Given the description of an element on the screen output the (x, y) to click on. 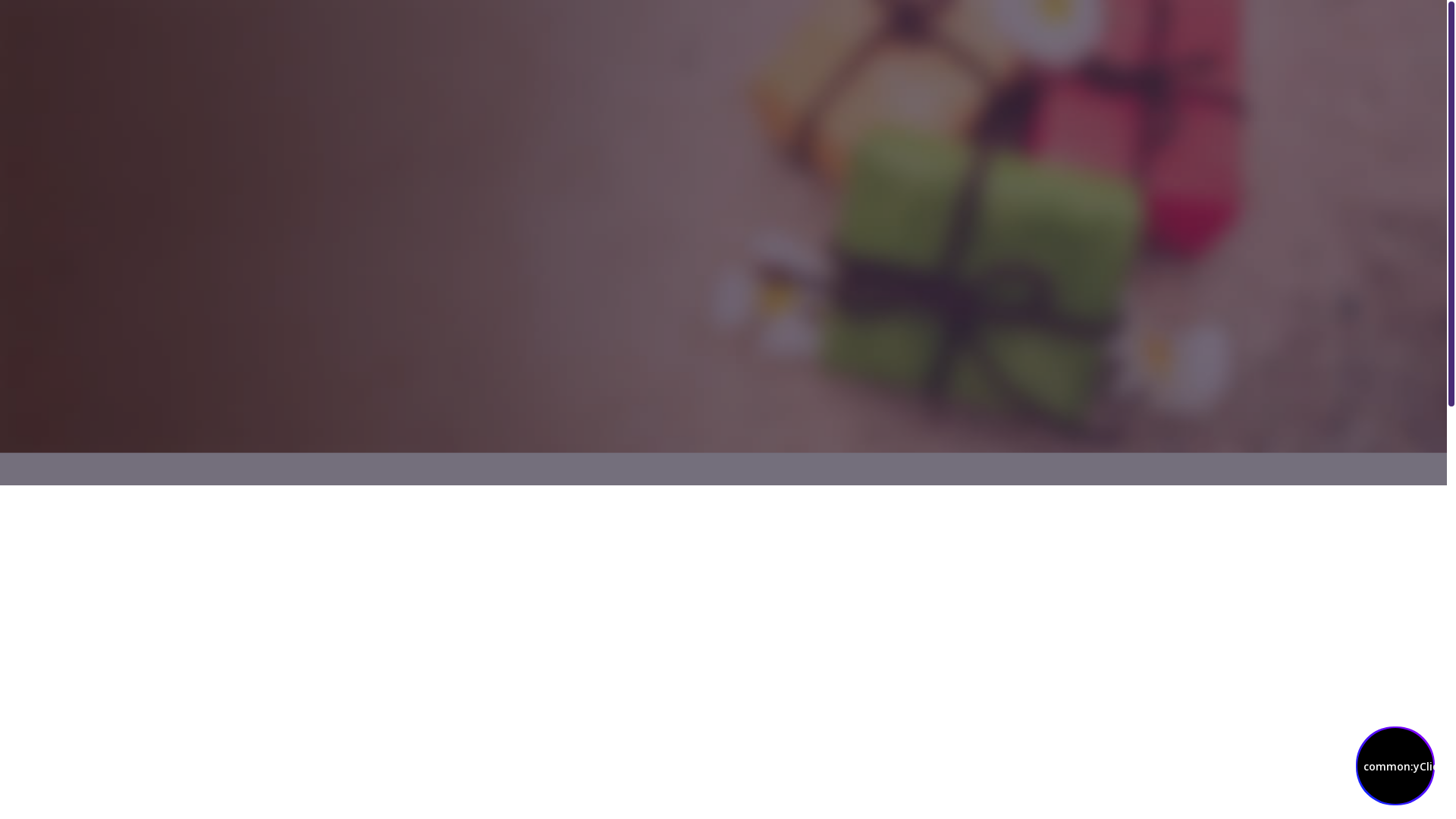
common:yClients Element type: text (1395, 765)
